Given the description of an element on the screen output the (x, y) to click on. 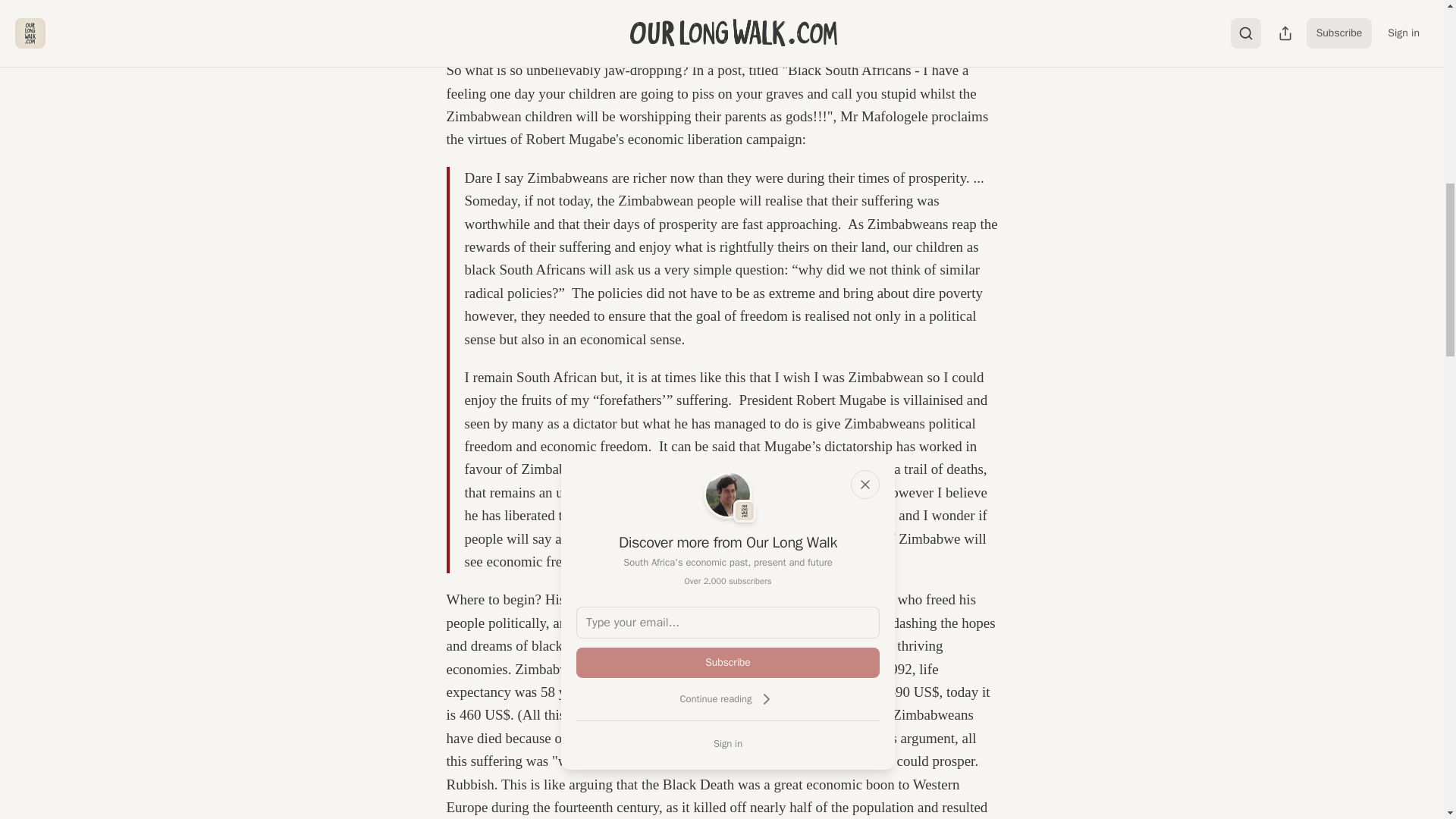
Sign in (727, 743)
Subscribe (727, 662)
